Given the description of an element on the screen output the (x, y) to click on. 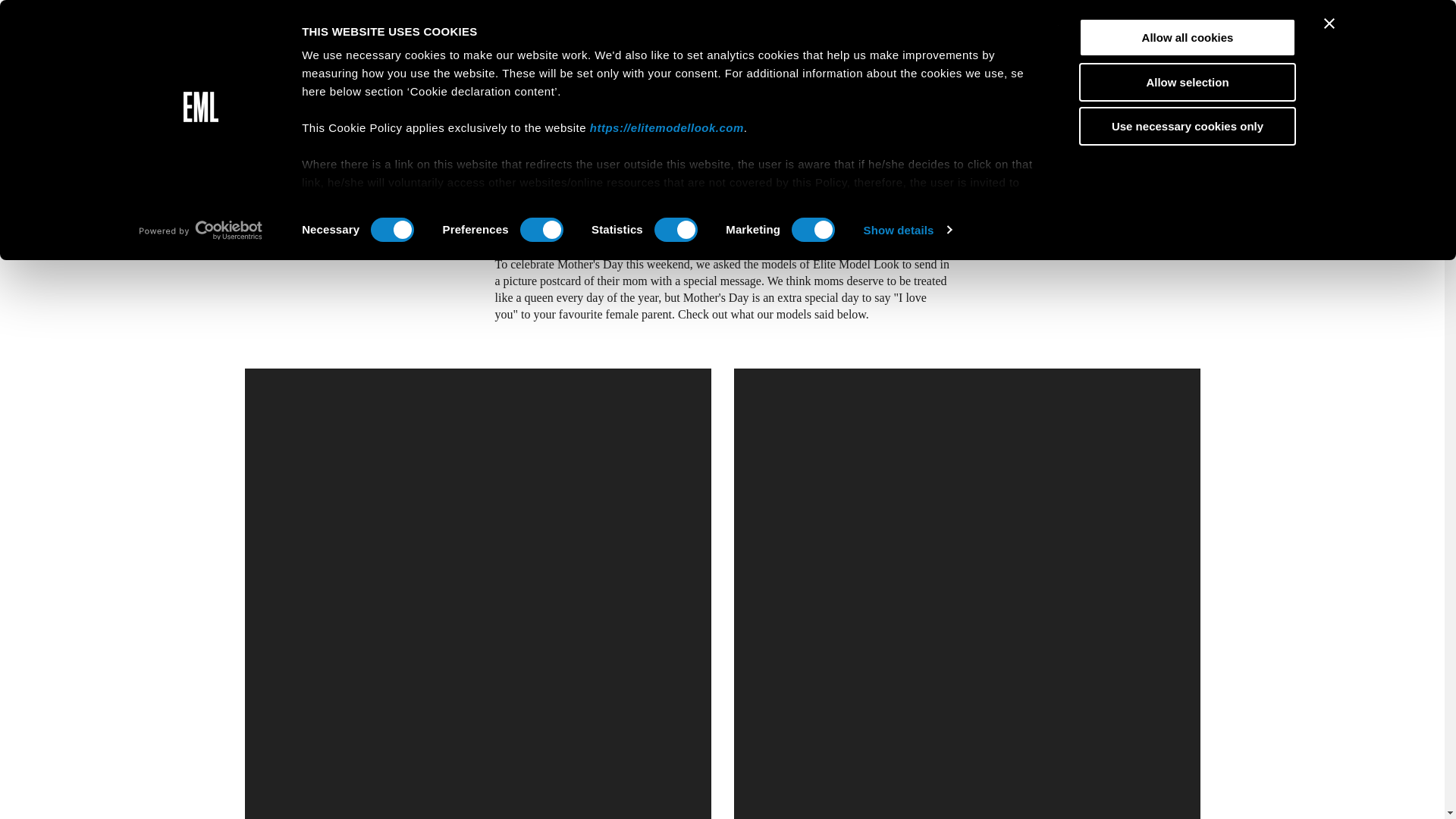
Show details (907, 229)
